Given the description of an element on the screen output the (x, y) to click on. 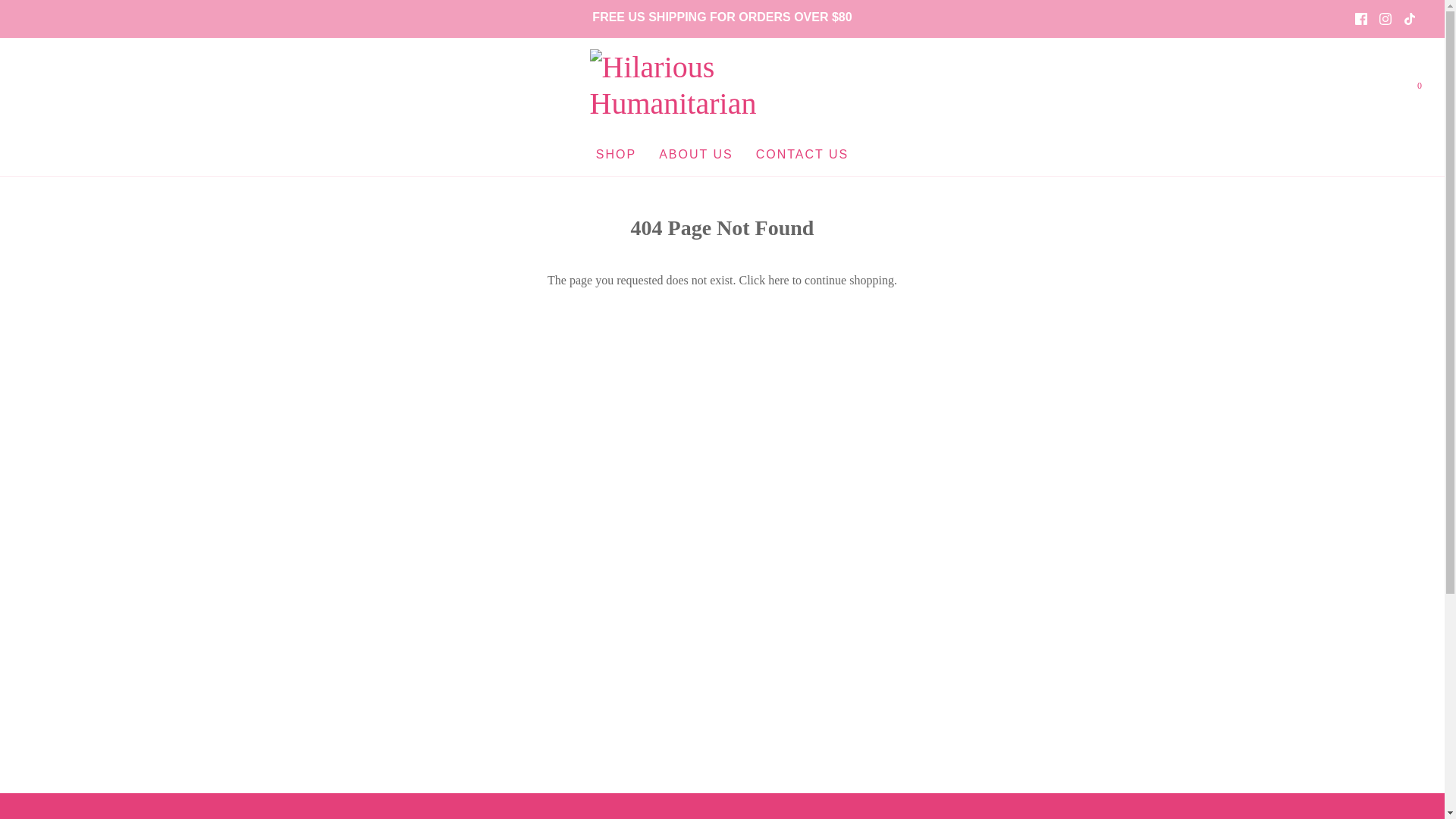
SHOP (615, 154)
Instagram icon (1384, 19)
TikTok icon (1409, 18)
TikTok icon (1409, 19)
Facebook icon (1361, 18)
Instagram icon (1385, 18)
Facebook icon (1361, 19)
